Given the description of an element on the screen output the (x, y) to click on. 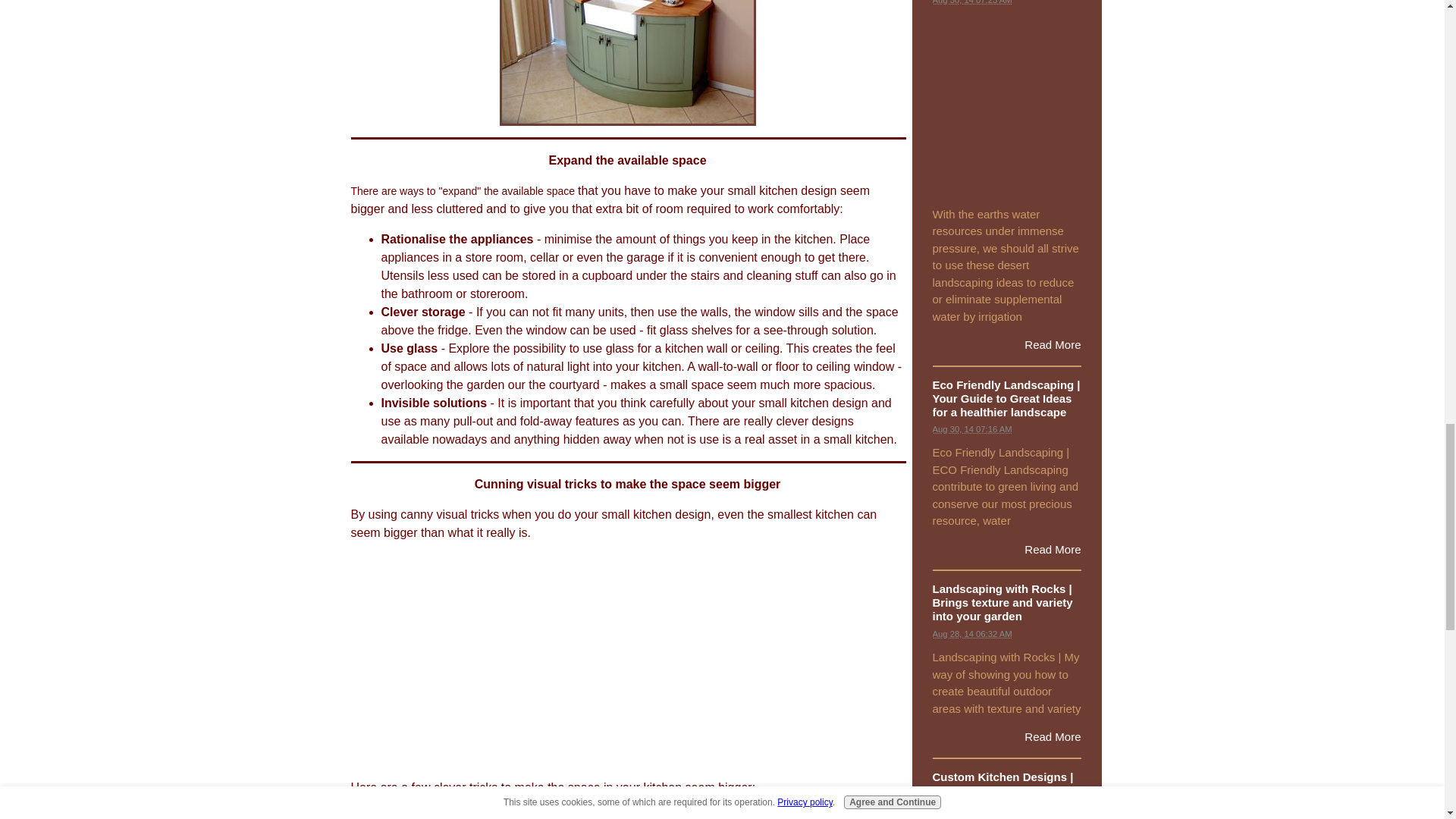
Read More (1052, 344)
2014-08-30T07:23:38-0400 (972, 2)
2014-08-28T06:32:17-0400 (972, 633)
2014-08-30T07:16:58-0400 (972, 429)
Advertisement (627, 660)
2014-08-26T10:44:51-0400 (972, 807)
Read More (1052, 549)
